Given the description of an element on the screen output the (x, y) to click on. 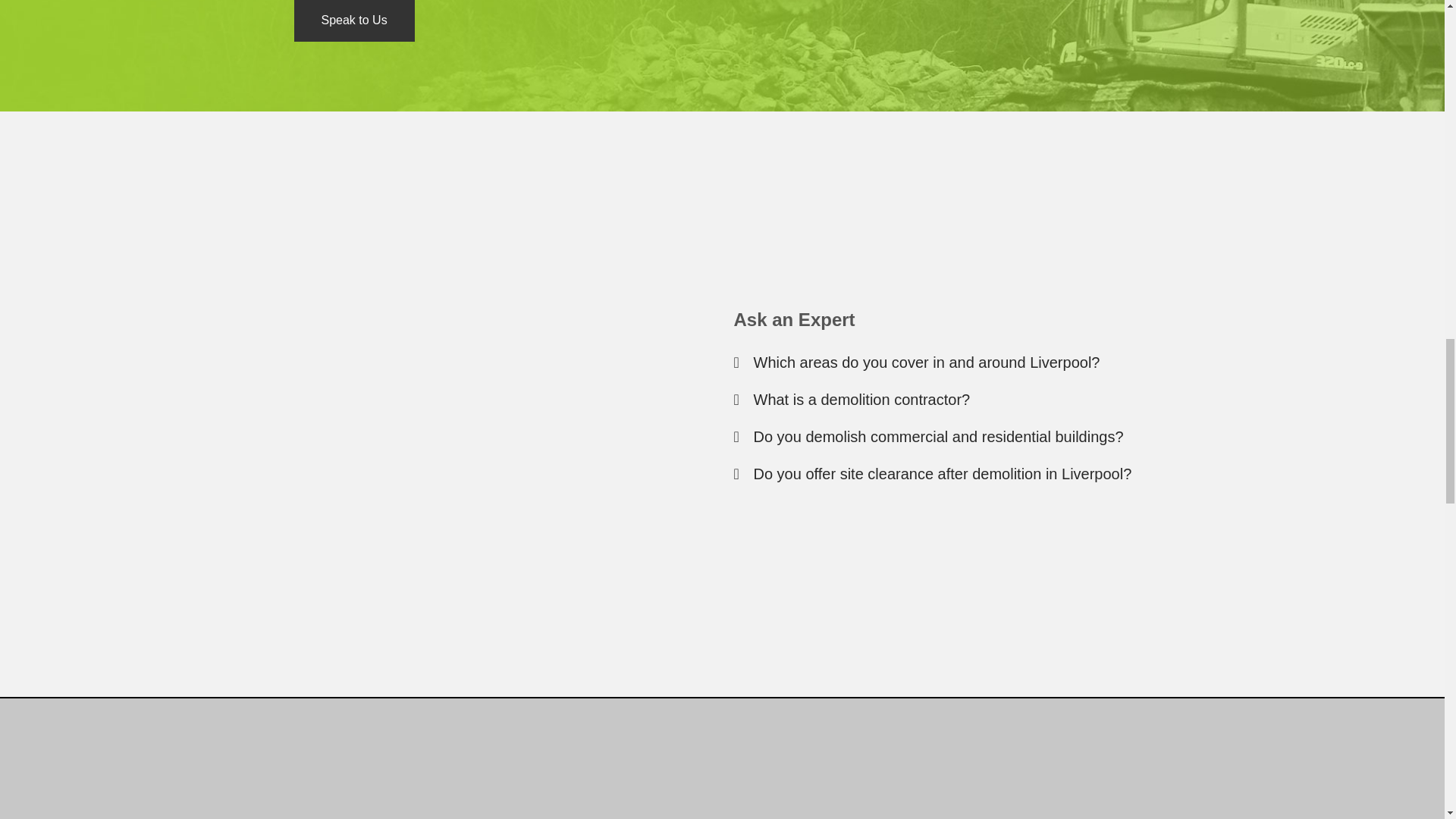
Contact Us (354, 20)
Speak to Us (354, 20)
